Given the description of an element on the screen output the (x, y) to click on. 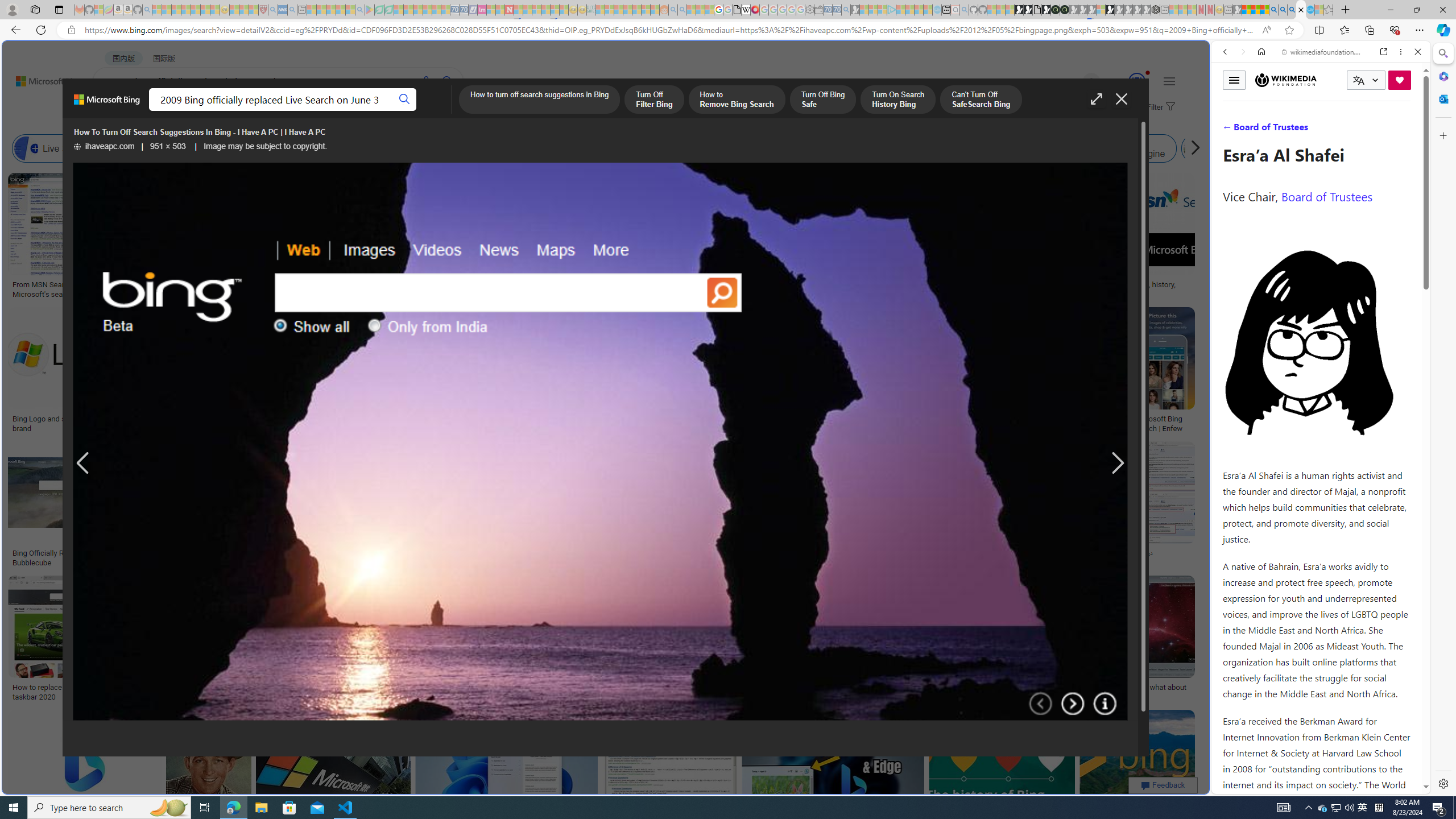
Bing (2009) (RARE/FAKE) - YouTube (942, 552)
